Given the description of an element on the screen output the (x, y) to click on. 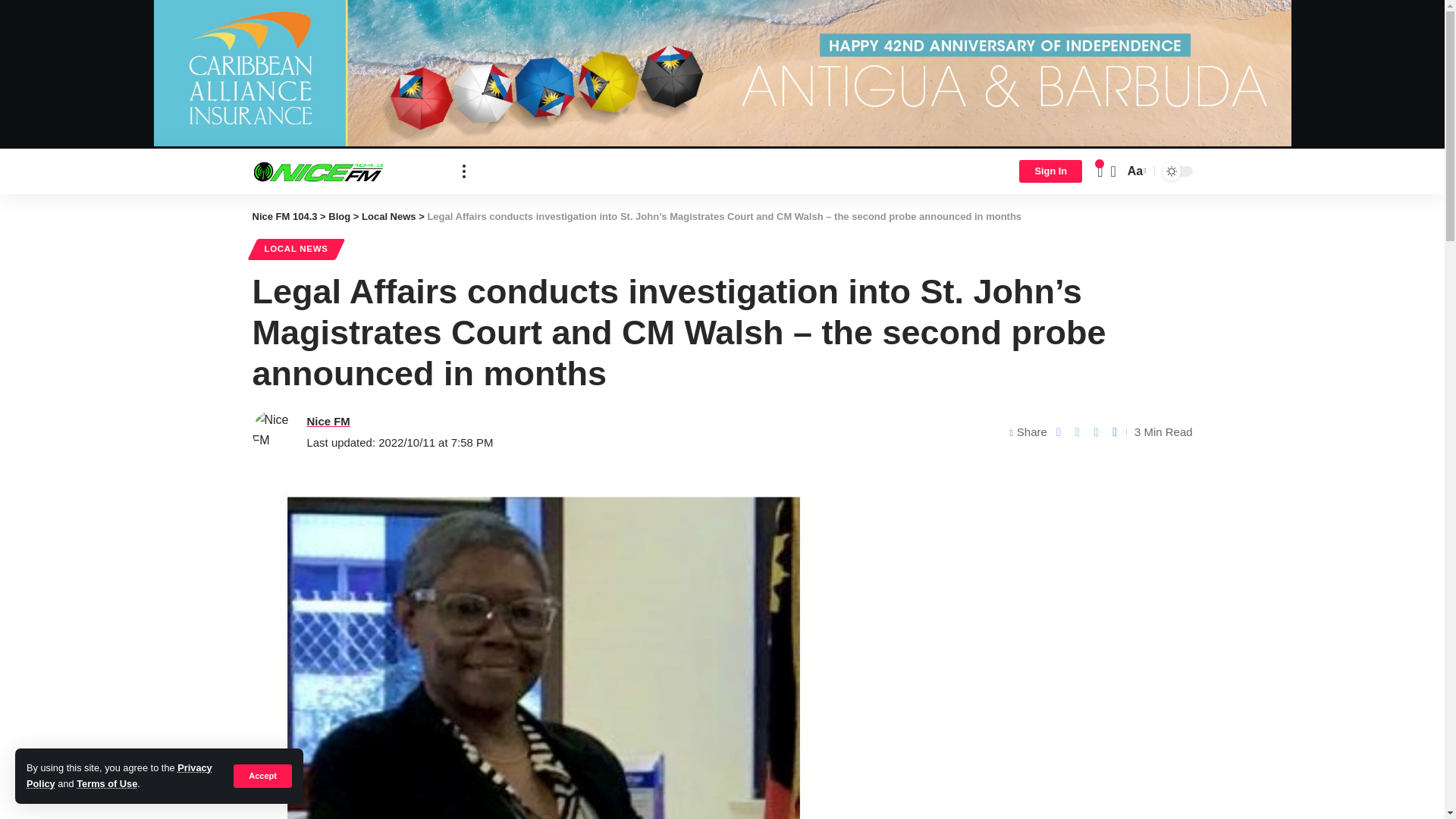
Go to the Local News Category archives. (388, 215)
Aa (1135, 170)
Sign In (1050, 170)
Terms of Use (106, 783)
Accept (262, 775)
Privacy Policy (119, 775)
Go to Nice FM 104.3. (284, 215)
Nice FM 104.3 (344, 171)
Go to Blog. (339, 215)
